Given the description of an element on the screen output the (x, y) to click on. 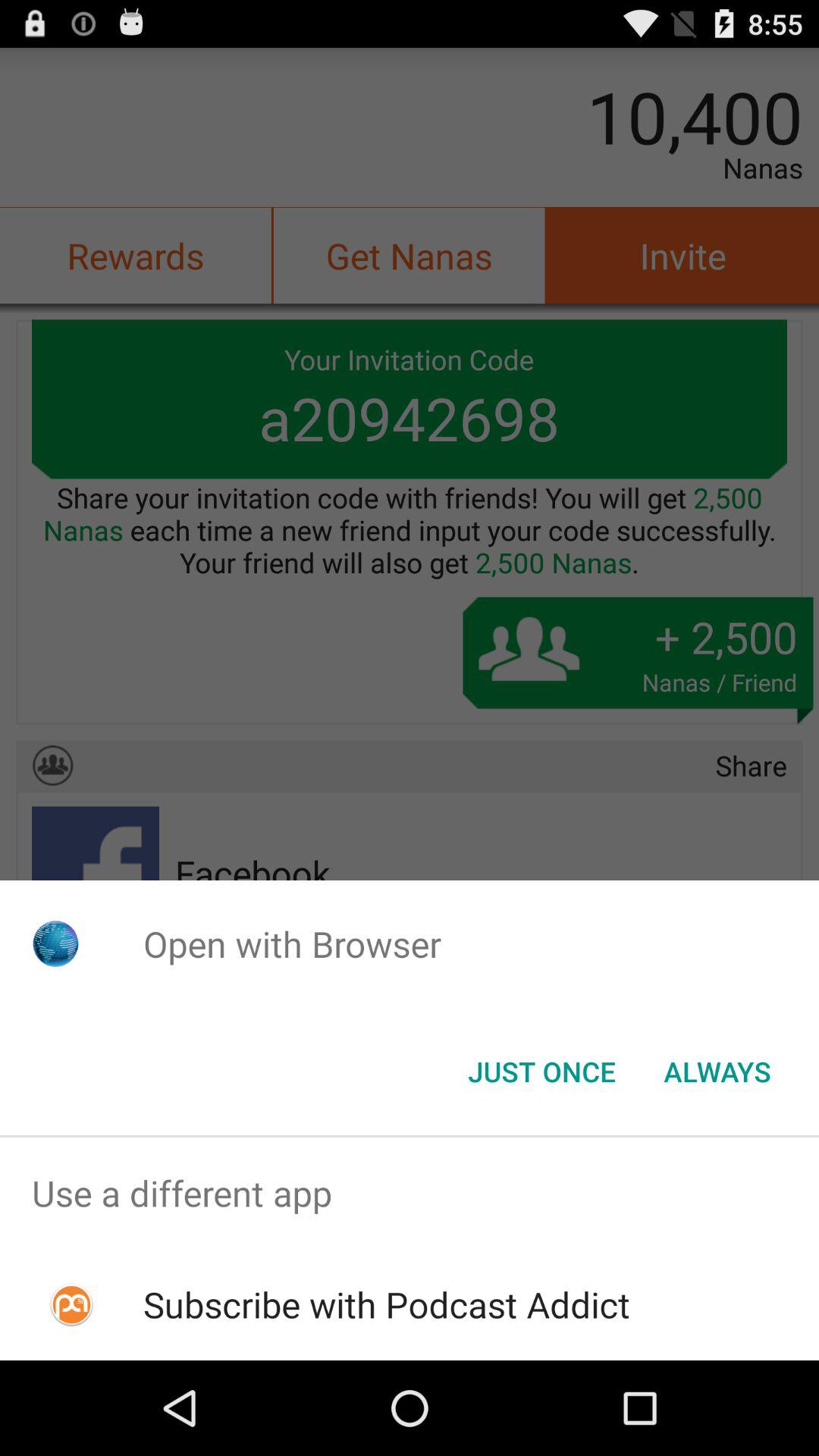
turn off the icon above the subscribe with podcast (409, 1192)
